Given the description of an element on the screen output the (x, y) to click on. 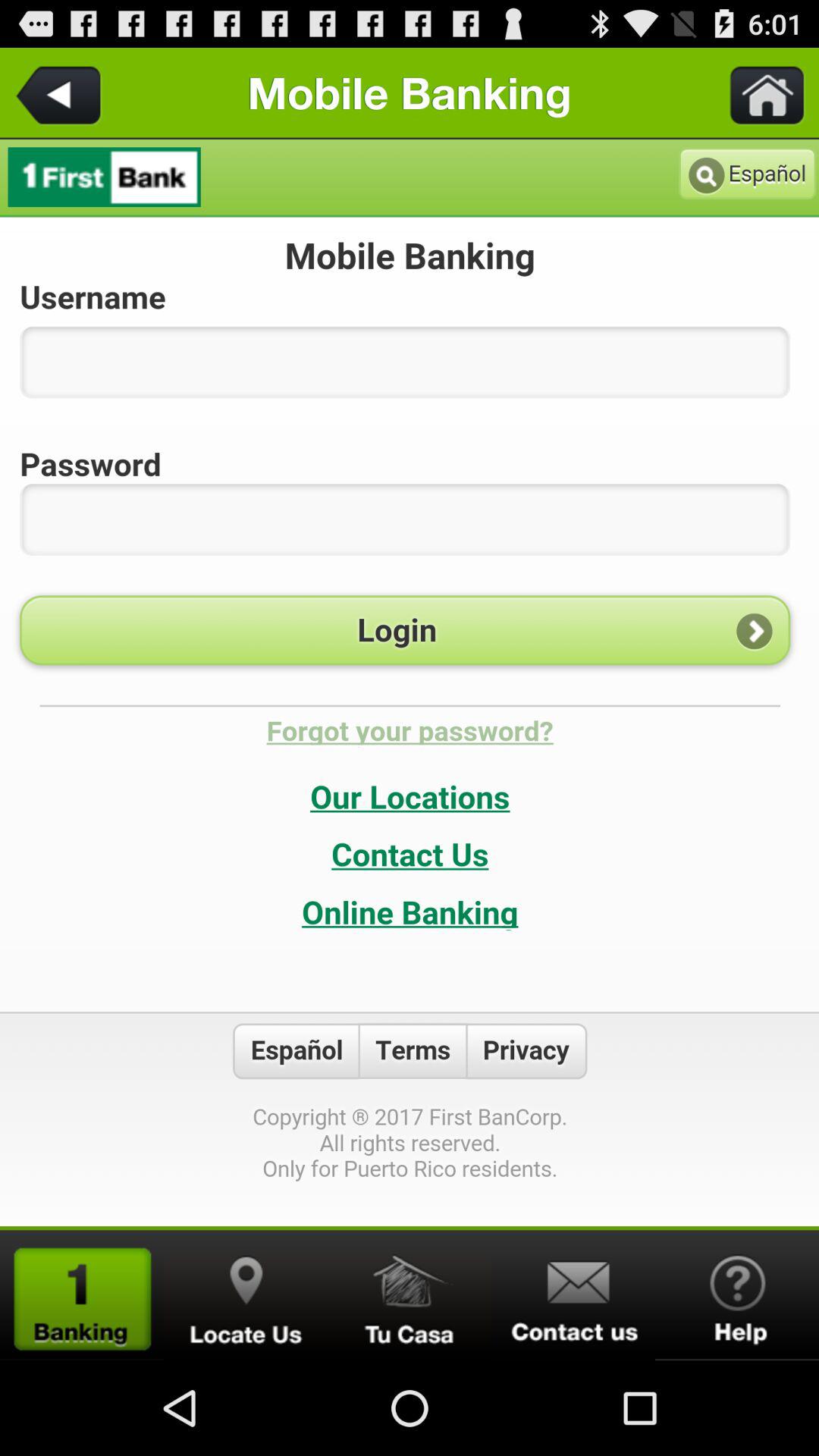
select item (409, 1295)
